Given the description of an element on the screen output the (x, y) to click on. 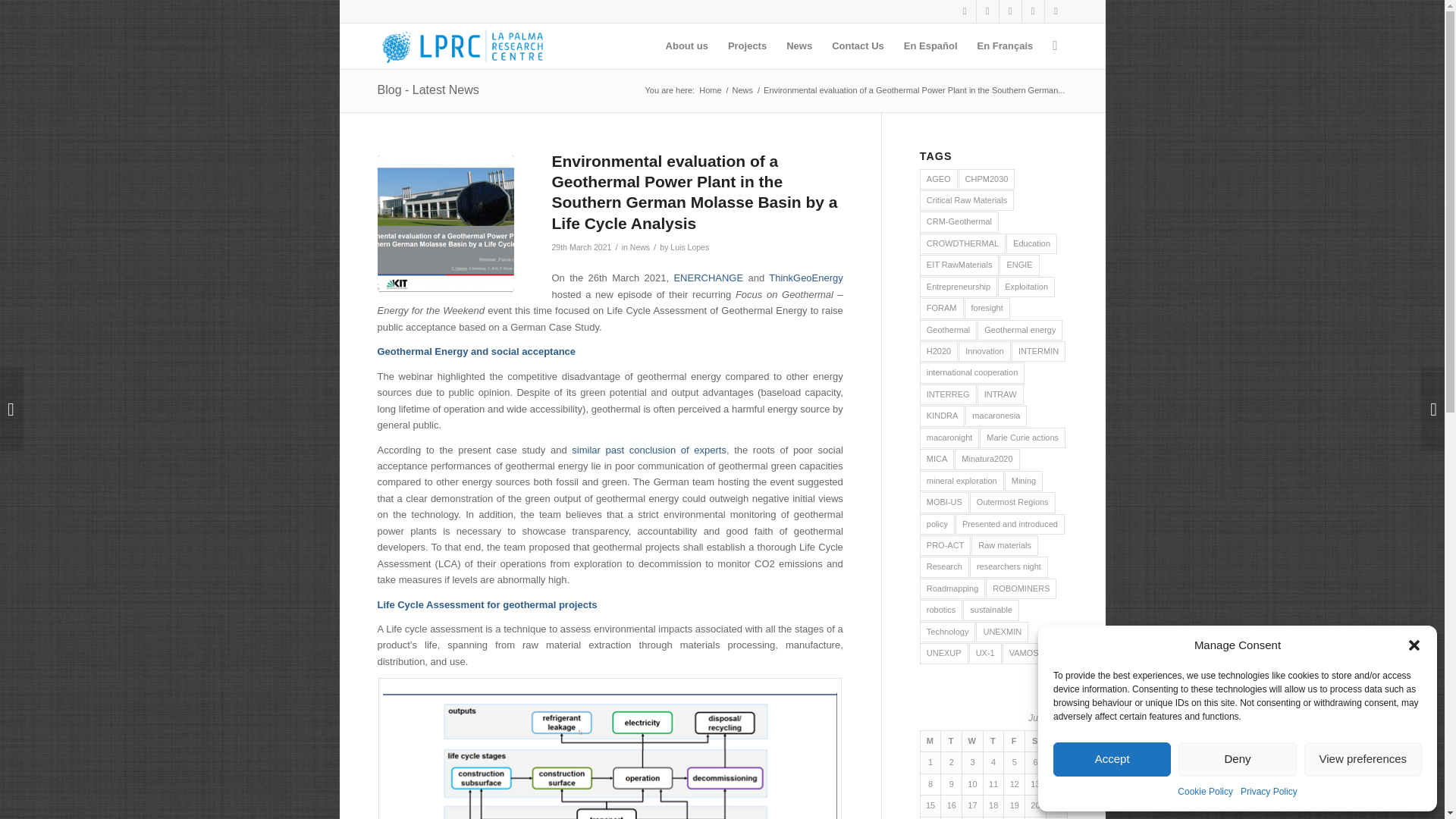
Permanent Link: Blog - Latest News (428, 89)
About us (686, 45)
Posts by Luis Lopes (689, 246)
La Palma Research Centre (710, 90)
